Given the description of an element on the screen output the (x, y) to click on. 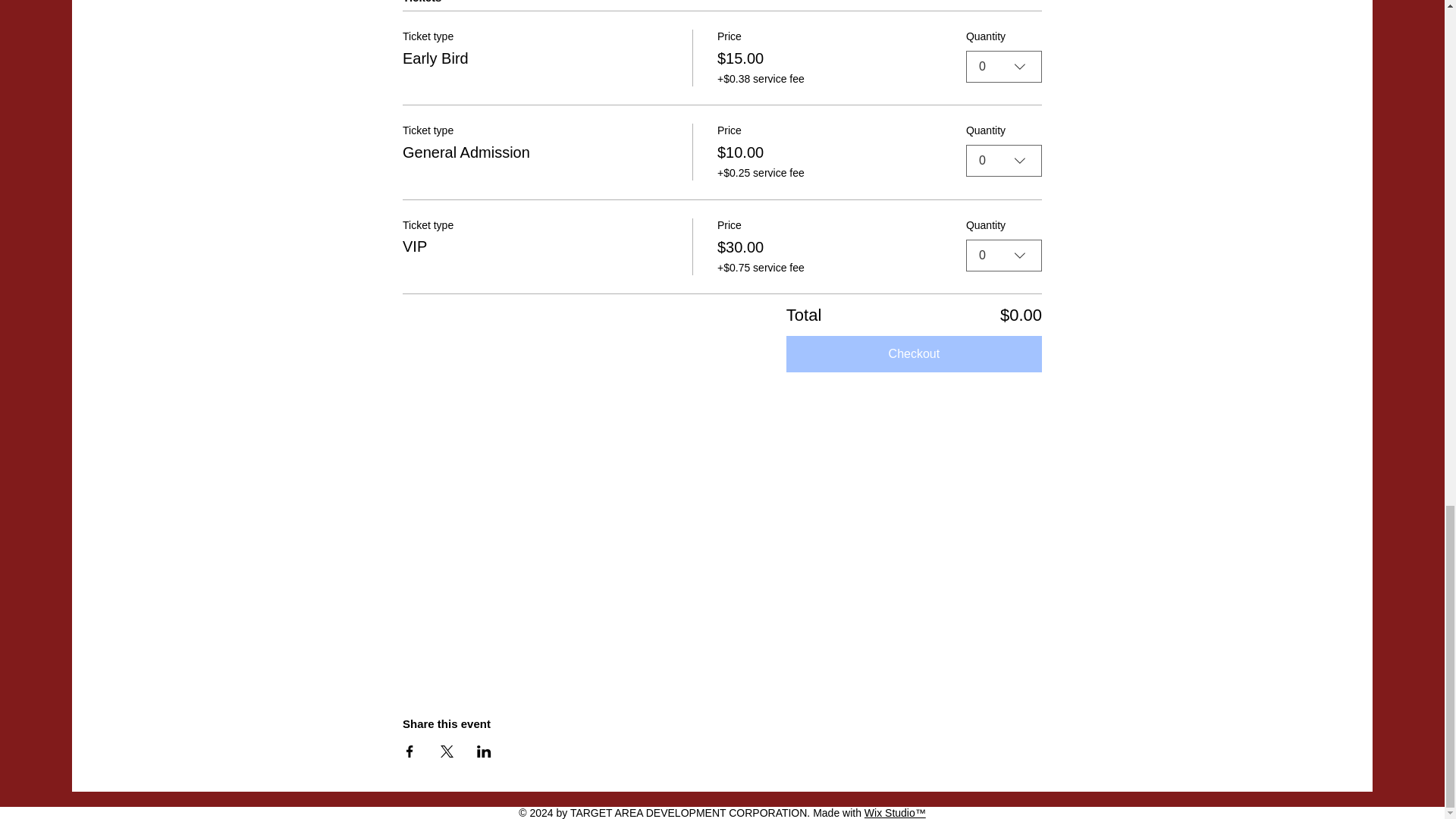
0 (1004, 160)
0 (1004, 66)
Checkout (914, 353)
0 (1004, 255)
